Given the description of an element on the screen output the (x, y) to click on. 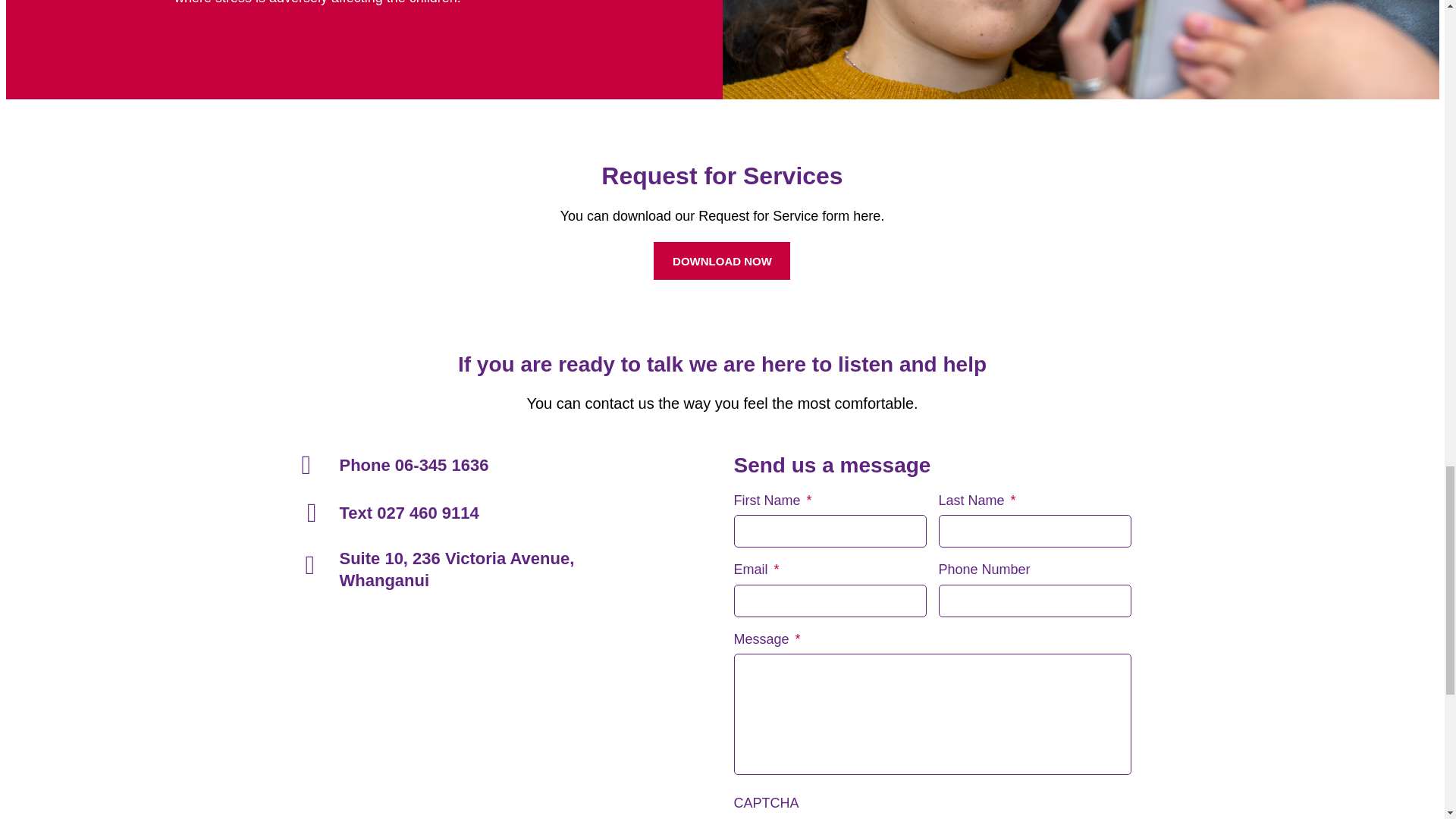
Download Now (721, 260)
DOWNLOAD NOW (721, 260)
